Given the description of an element on the screen output the (x, y) to click on. 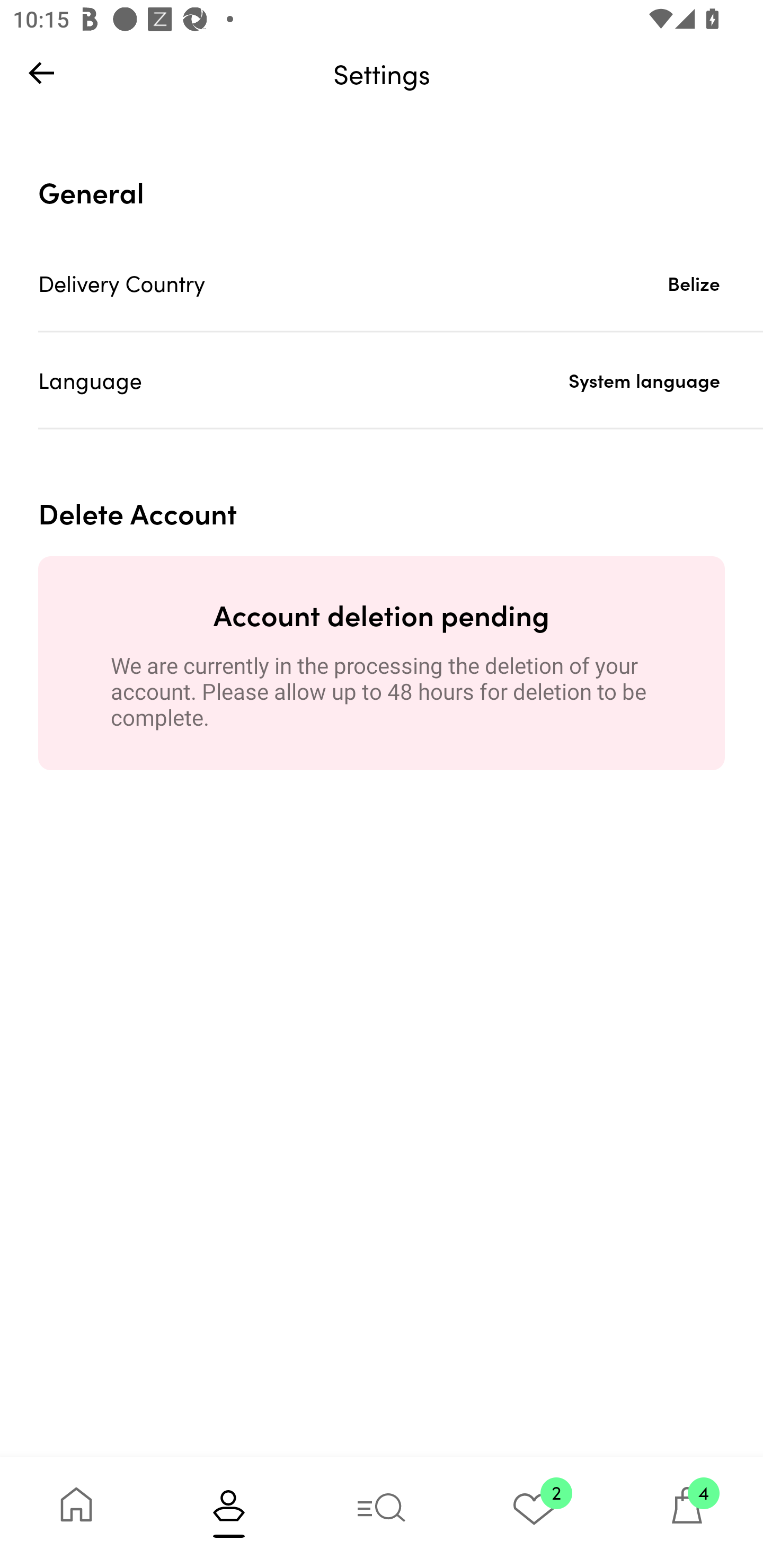
Delivery Country Belize (400, 282)
Language System language (400, 380)
2 (533, 1512)
4 (686, 1512)
